Given the description of an element on the screen output the (x, y) to click on. 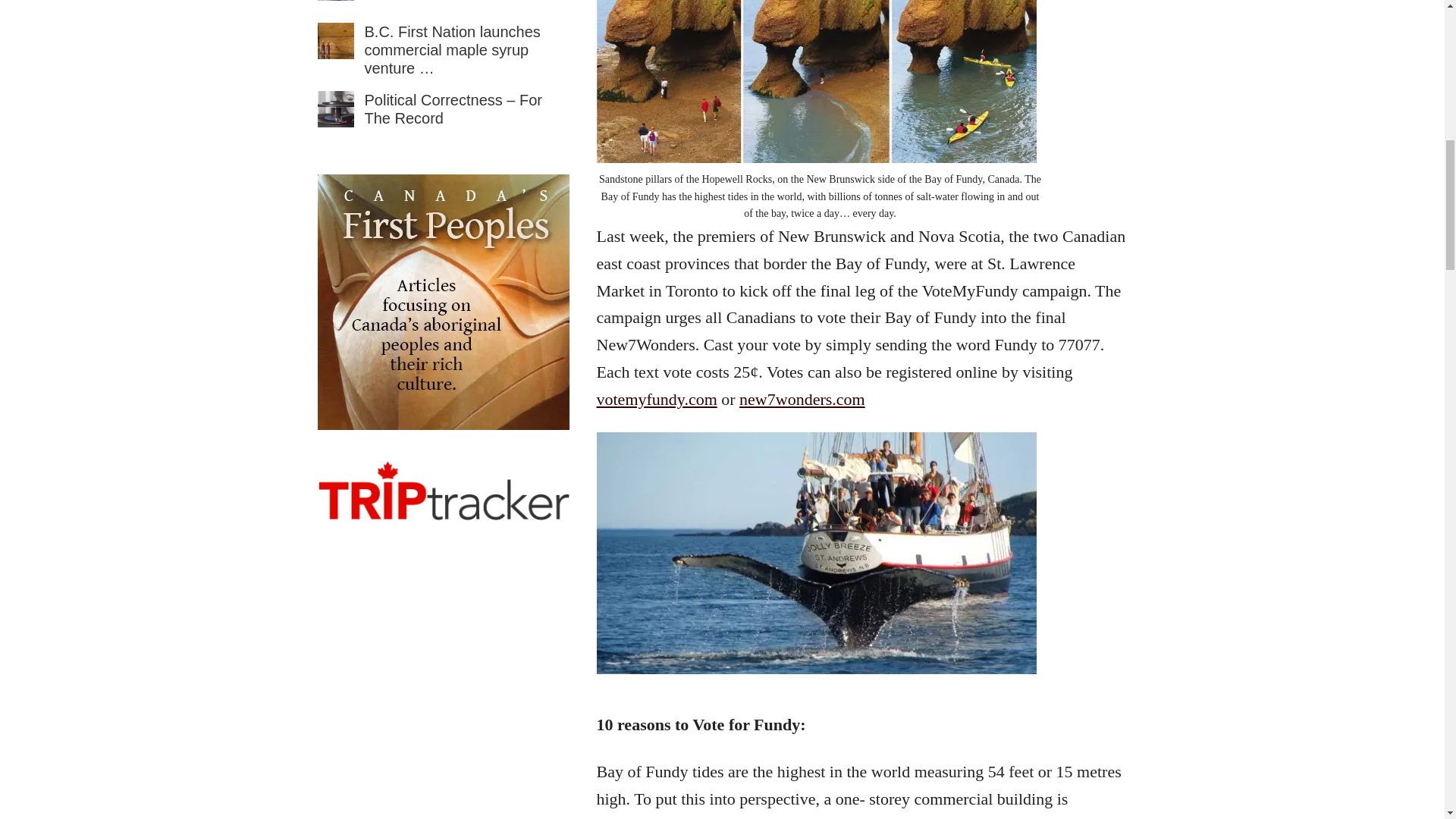
votemyfundy.com (655, 398)
hopewell-rocks (815, 81)
Jolly-Breeze-Tall-Ship-Adventure-Whale-Tail-Stern (815, 553)
link to VotemyFundy.com (655, 398)
new7wonders.com (801, 398)
New7Wonders official site (801, 398)
